Given the description of an element on the screen output the (x, y) to click on. 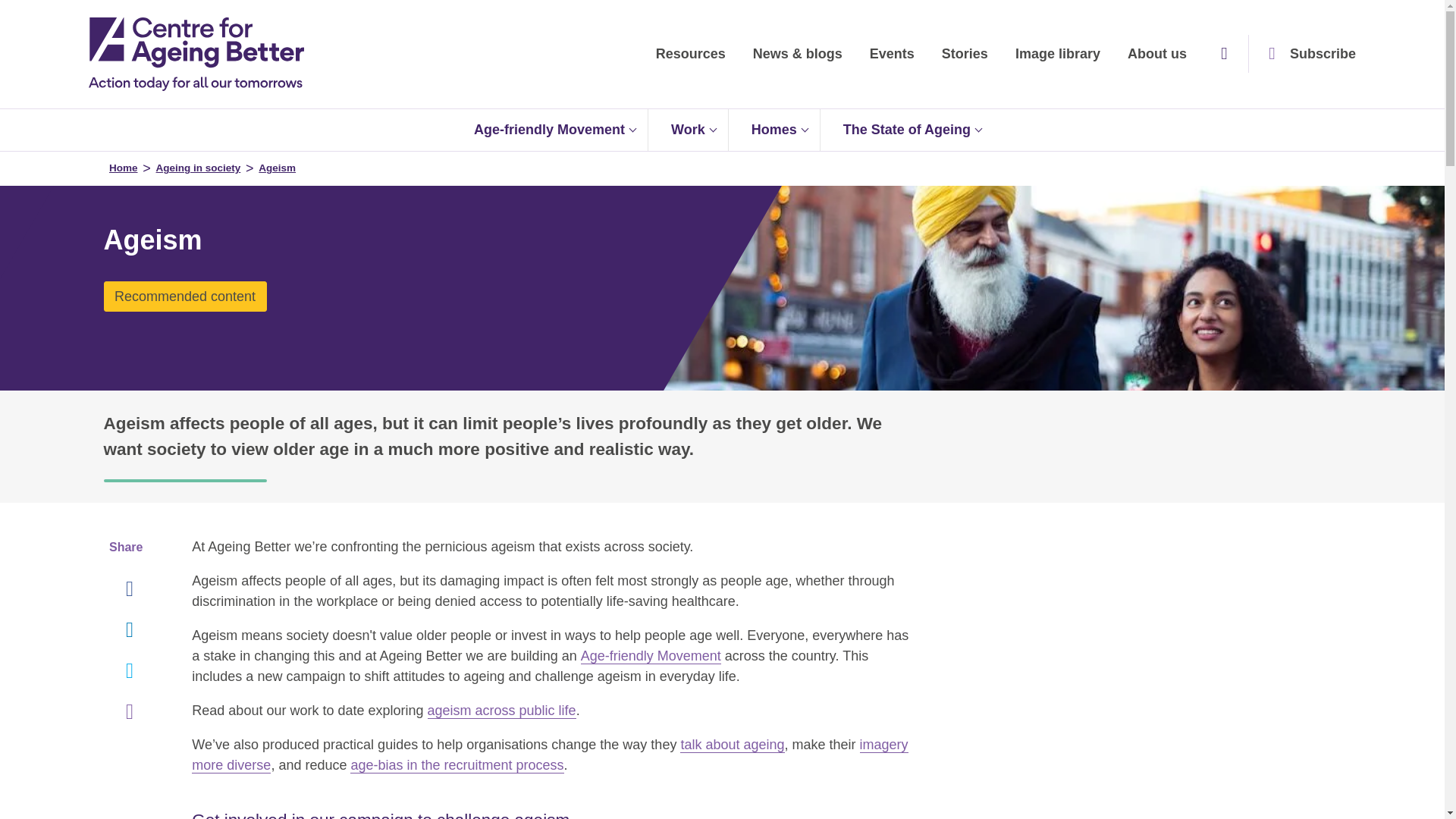
Home (196, 54)
Subscribe (1308, 54)
Image library (1057, 54)
Subscribe (1308, 54)
Image library (1057, 54)
Resources (690, 54)
Centre for Ageing Better (196, 54)
Resources (690, 54)
Recommended content (184, 296)
